Given the description of an element on the screen output the (x, y) to click on. 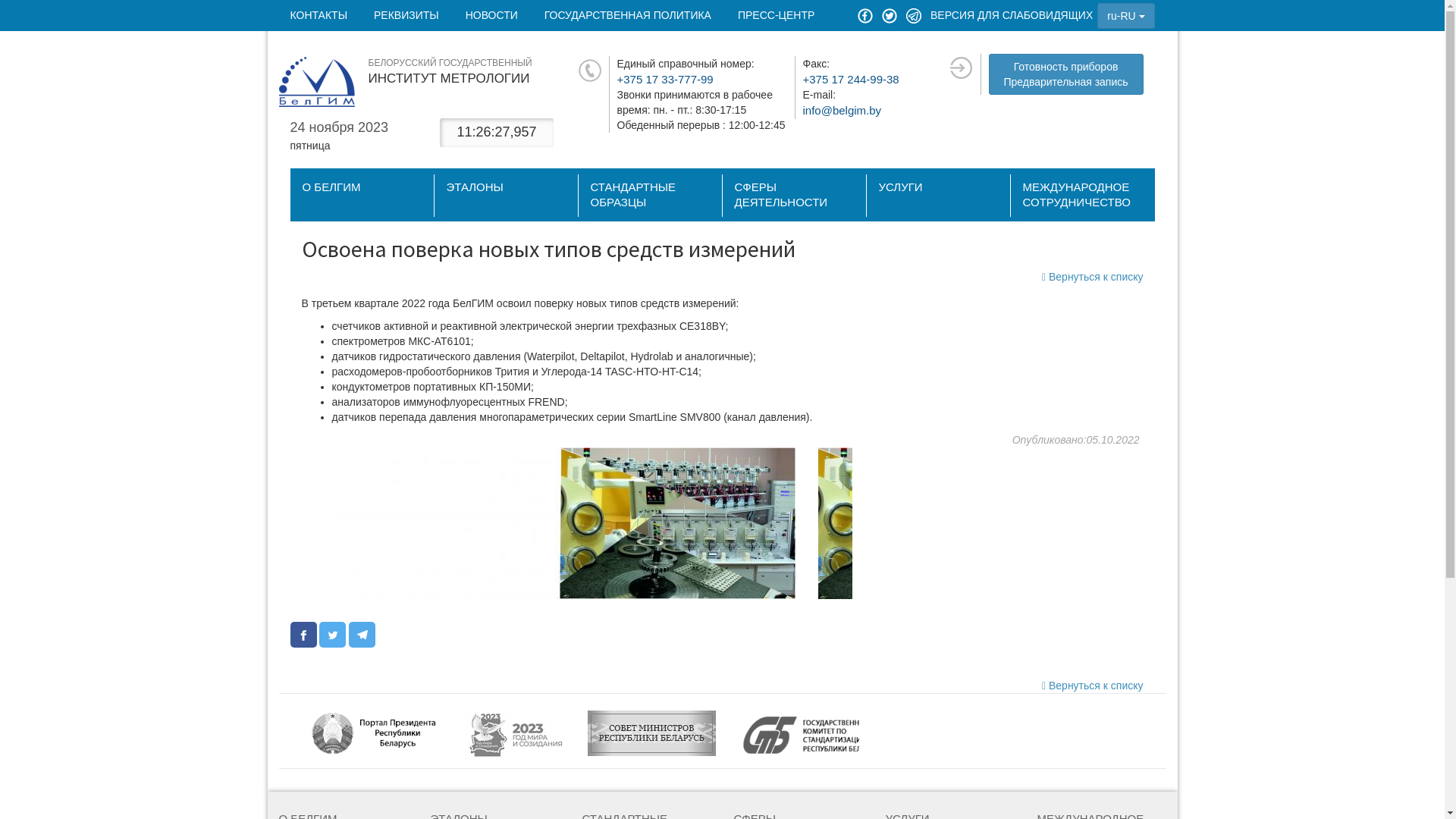
+375 17 244-99-38 Element type: text (850, 78)
+375 17 33-777-99 Element type: text (665, 78)
info@belgim.by Element type: text (841, 109)
ru-RU Element type: text (1125, 15)
